Given the description of an element on the screen output the (x, y) to click on. 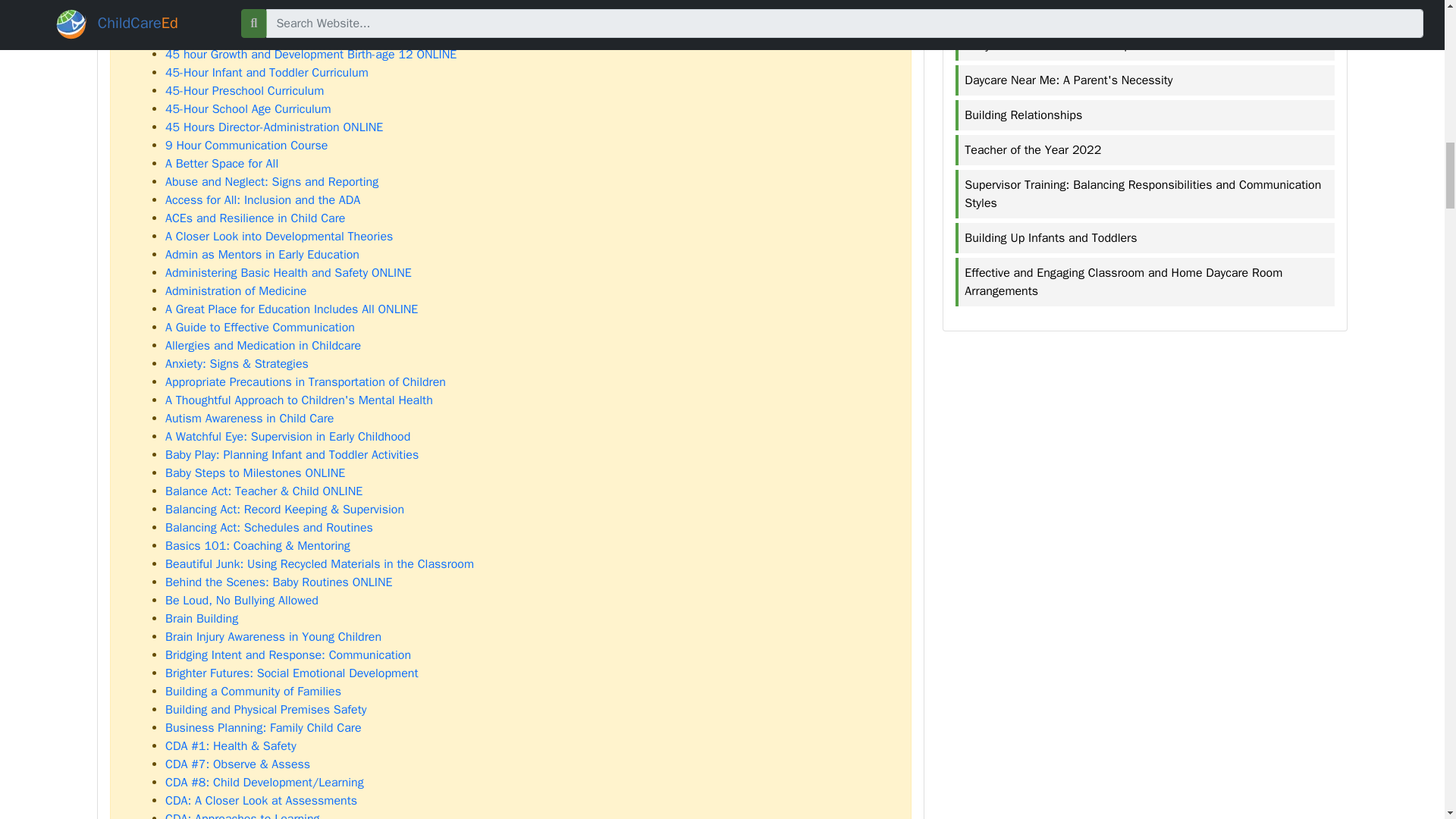
45-Hour Infant and Toddler Curriculum (266, 72)
1-Hour Abuse and Neglect Training (257, 17)
45-Hour Coaching and Mentoring (252, 36)
Maryland Child Care Teacher qualifications (1145, 45)
Daycare Near Me: A Parent's Necessity (1145, 80)
1,2,3, Eyes on Me: Classroom Safety (264, 3)
Building Relationships (1145, 115)
45 hour Growth and Development Birth-age 12 ONLINE (311, 54)
Strong Good Hug, And A Kiss to Say Good Bye (1145, 10)
